Given the description of an element on the screen output the (x, y) to click on. 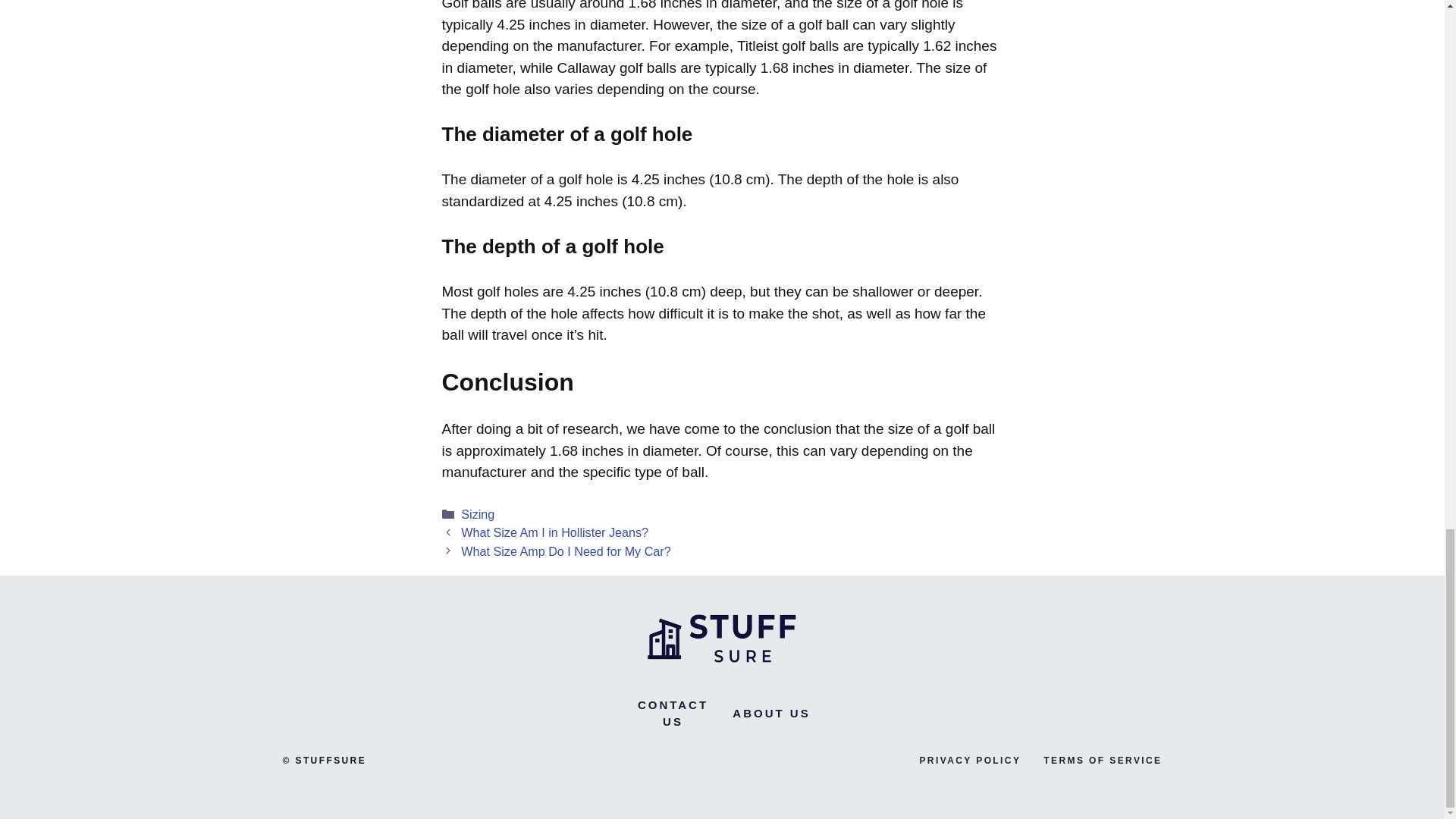
stuffsure-logo (721, 636)
ABOUT US (770, 712)
What Size Am I in Hollister Jeans? (554, 531)
TERMS OF SERVICE (1102, 760)
PRIVACY POLICY (969, 760)
What Size Amp Do I Need for My Car? (565, 550)
Sizing (478, 513)
CONTACT US (672, 713)
